Given the description of an element on the screen output the (x, y) to click on. 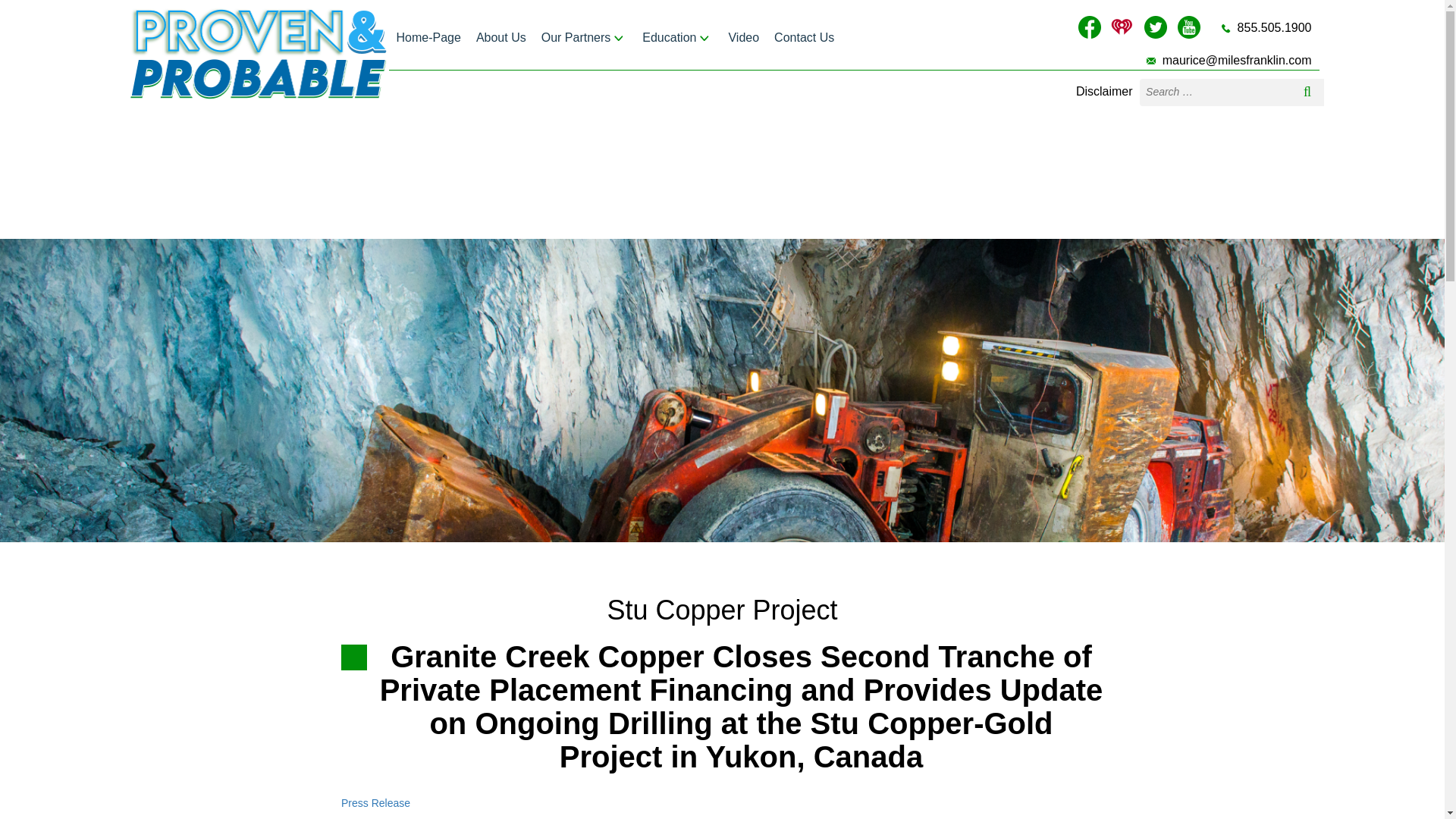
About Us (501, 37)
Education (677, 37)
Our Partners (584, 37)
Home-Page (427, 37)
